Given the description of an element on the screen output the (x, y) to click on. 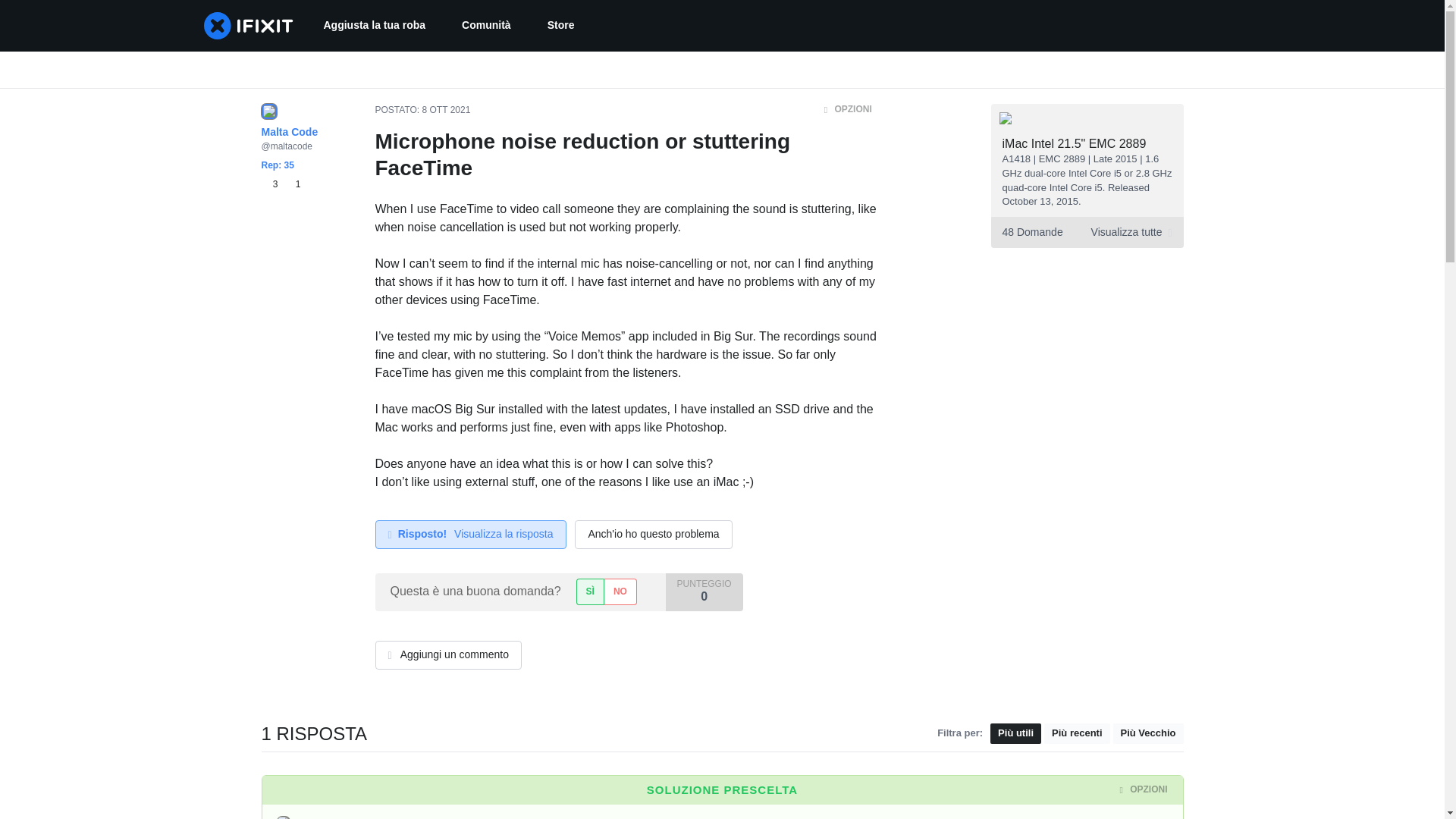
POSTATO: 8 OTT 2021 (422, 109)
3 Bronzo distintivi (1086, 232)
1 Argento distintivi (271, 184)
3 1 (292, 184)
Store (279, 184)
Fri, 08 Oct 2021 07:50:52 -0700 (560, 25)
Fri, 08 Oct 2021 05:24:49 -0700 (462, 818)
POSTATO: 8 OTT 2021 (446, 109)
Aggiusta la tua roba (438, 818)
Aggiungi un commento (374, 25)
Risposto! Visualizza la risposta (447, 654)
Anch'io ho questo problema (470, 534)
NO (653, 534)
iMac Intel 21.5" EMC 2889 (620, 591)
